Given the description of an element on the screen output the (x, y) to click on. 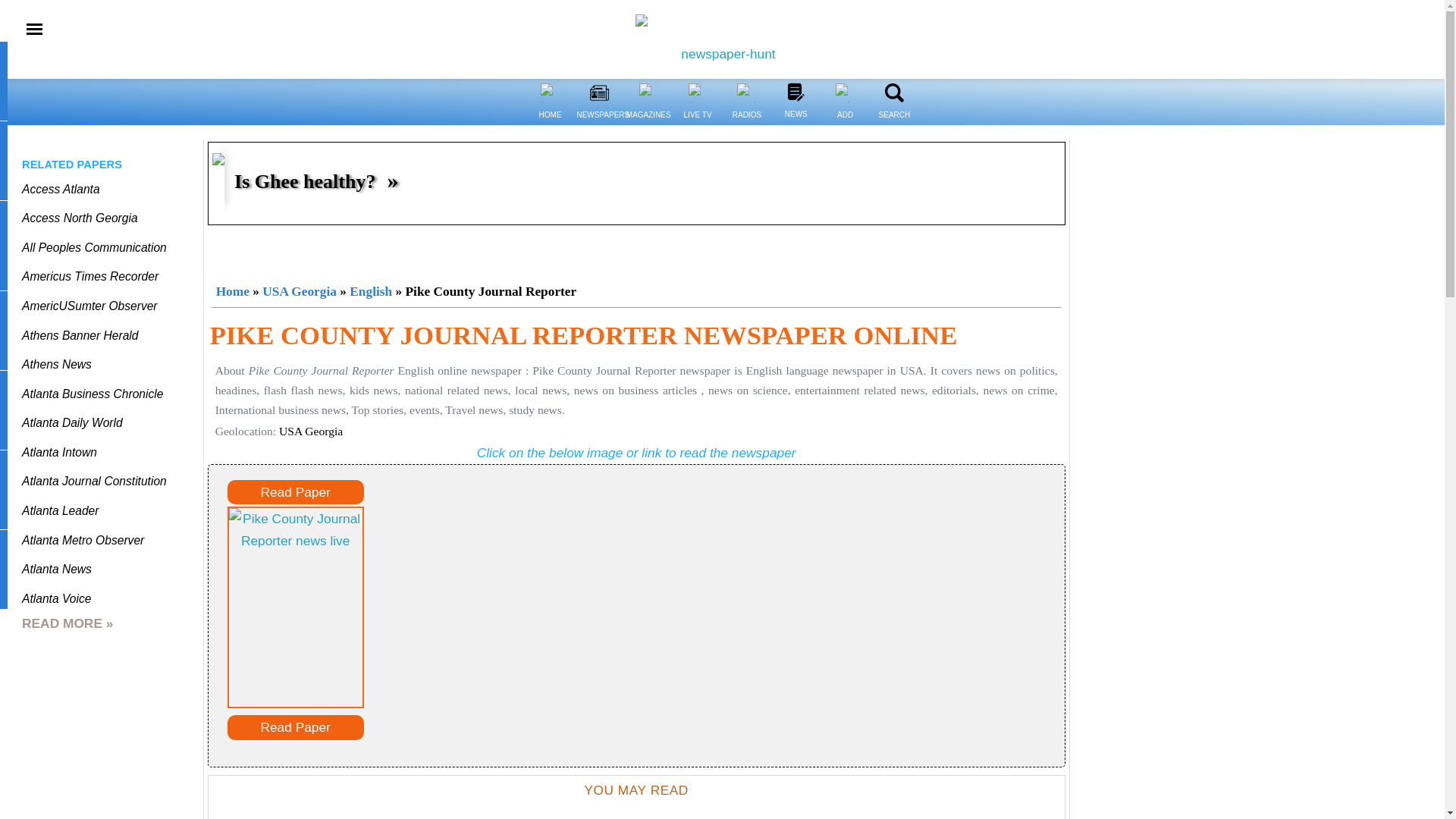
RADIOS (746, 124)
Atlanta Business Chronicle (92, 393)
AmericUSumter Observer (89, 305)
NEWSPAPER (598, 92)
MAGAZINES (648, 124)
All Peoples Communication (94, 246)
RADIOS (745, 92)
SEARCH (894, 92)
Americus Times Recorder (89, 276)
ADD PAPER (844, 92)
ADD (844, 124)
Athens News (56, 364)
Access Atlanta (60, 188)
NEWSPAPERS (598, 124)
Atlanta Daily World (71, 422)
